Given the description of an element on the screen output the (x, y) to click on. 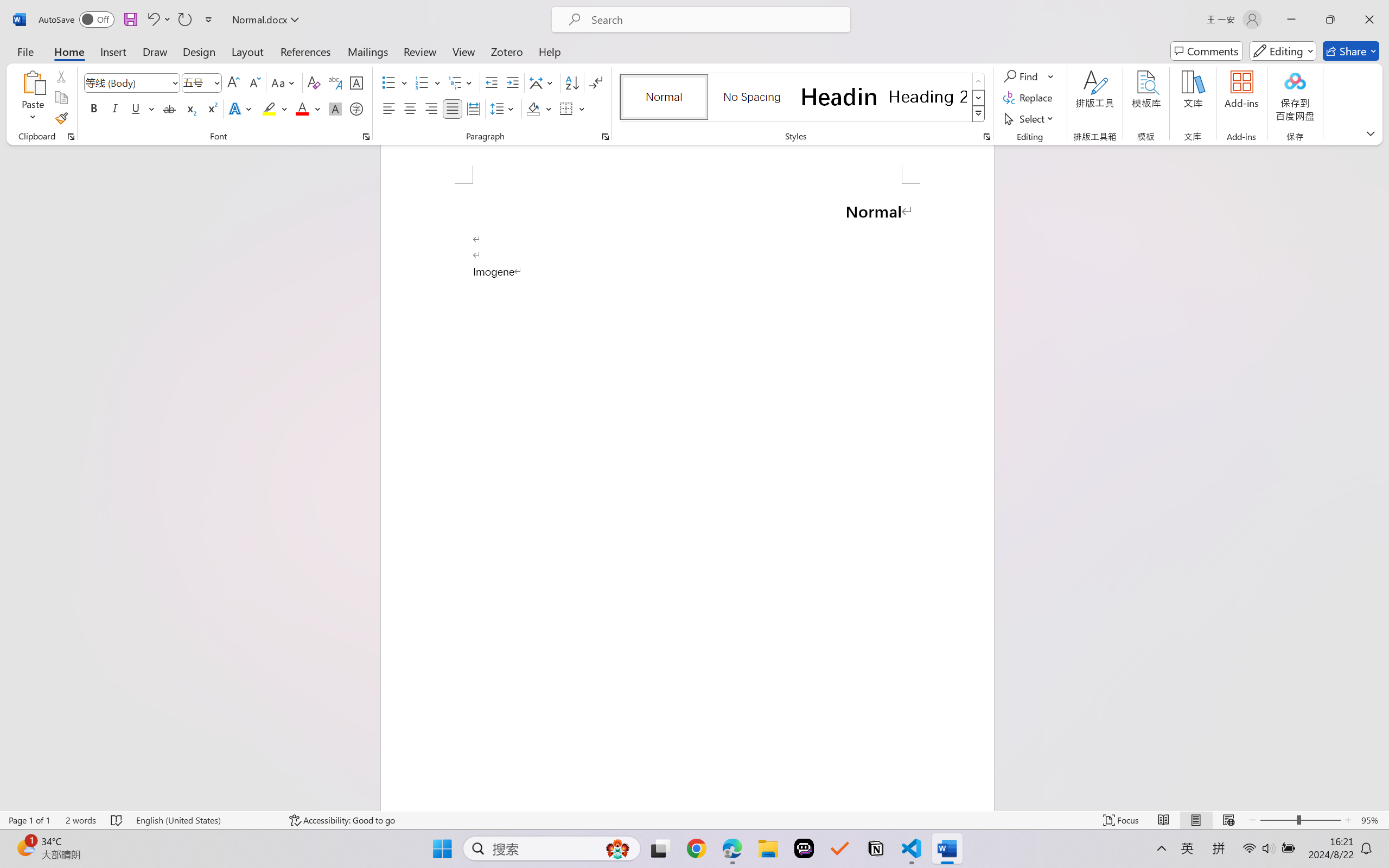
Character Border (356, 82)
Subscript (190, 108)
Strikethrough (169, 108)
Office Clipboard... (70, 136)
Distributed (473, 108)
Copy (60, 97)
